Given the description of an element on the screen output the (x, y) to click on. 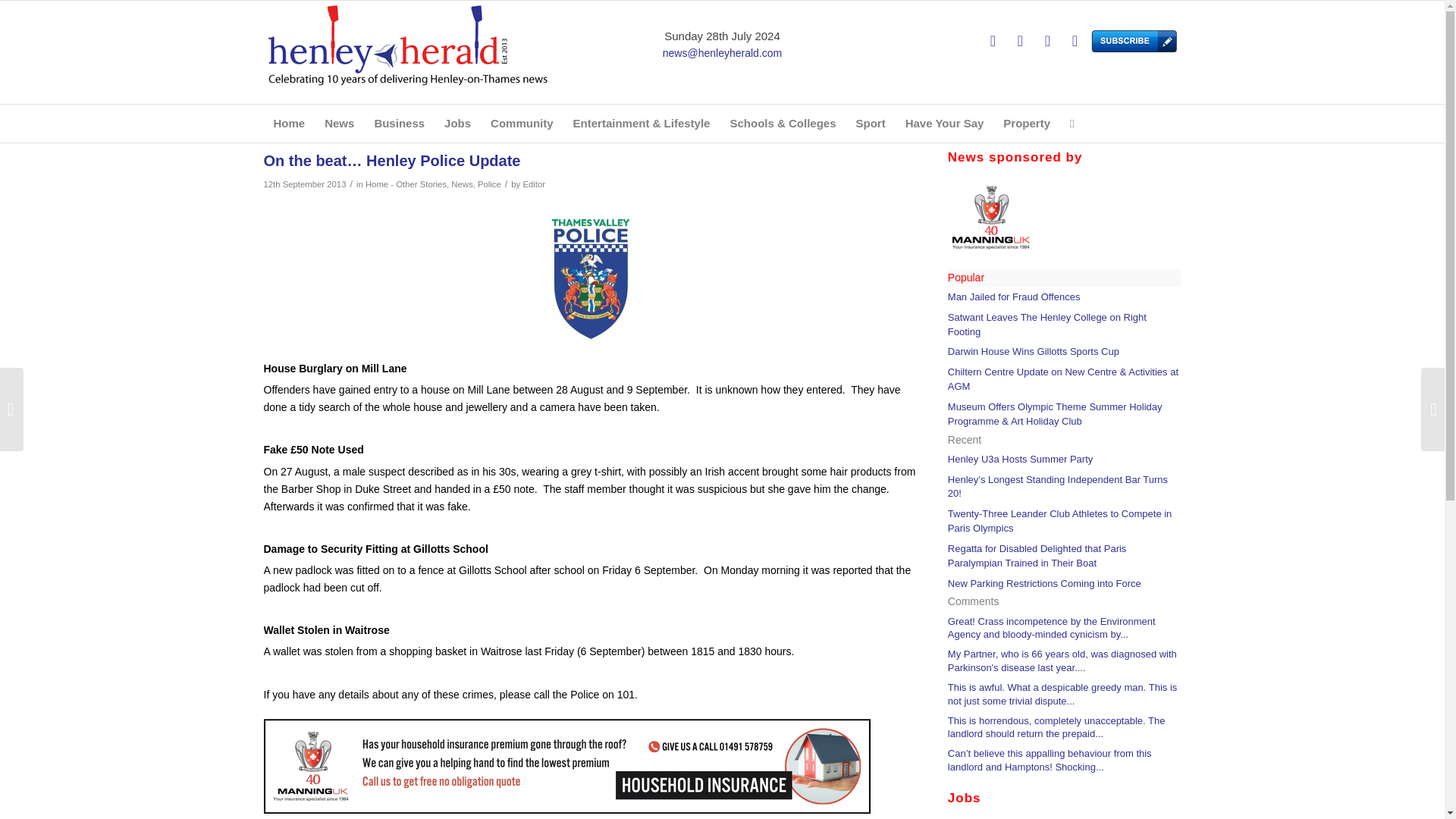
X (992, 40)
Posts by Editor (533, 184)
Instagram (1046, 40)
Henley Herald logo (407, 44)
Henley Herald logo (407, 52)
Business (398, 123)
Youtube (1074, 40)
Read: Man Jailed for Fraud Offences (1013, 296)
Subscribe (1101, 40)
Home (289, 123)
Read: Darwin House Wins Gillotts Sports Cup (1033, 351)
Read: Satwant Leaves The Henley College on Right Footing (1047, 324)
News (339, 123)
Facebook (1019, 40)
Jobs (456, 123)
